Given the description of an element on the screen output the (x, y) to click on. 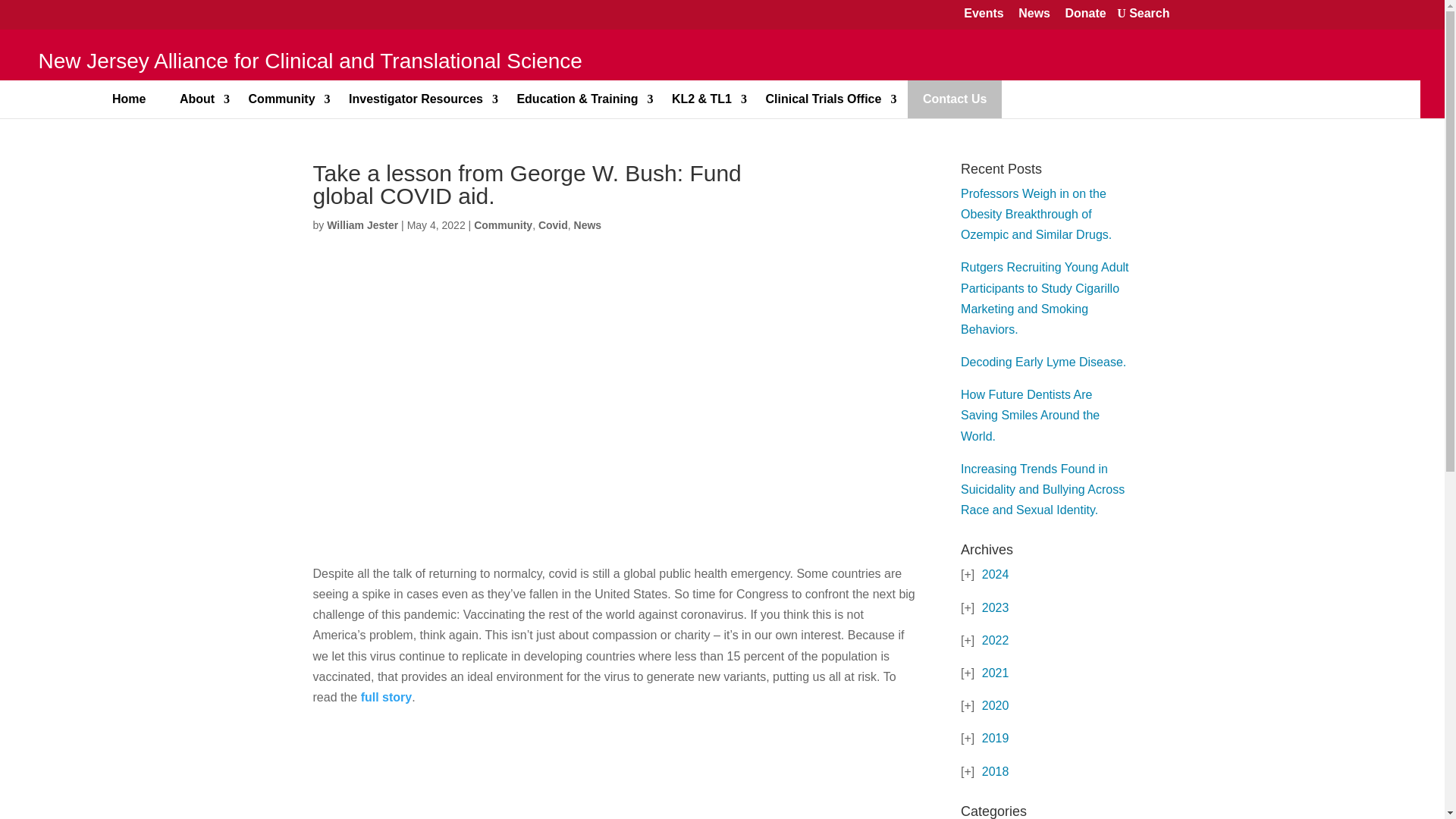
New Jersey Alliance for Clinical and Translational Science (308, 63)
Home (128, 98)
Posts by William Jester (361, 224)
Investigator Resources (415, 98)
About (197, 98)
Events (983, 14)
Donate (1084, 14)
Community (281, 98)
News (1033, 14)
Search (1142, 13)
